Given the description of an element on the screen output the (x, y) to click on. 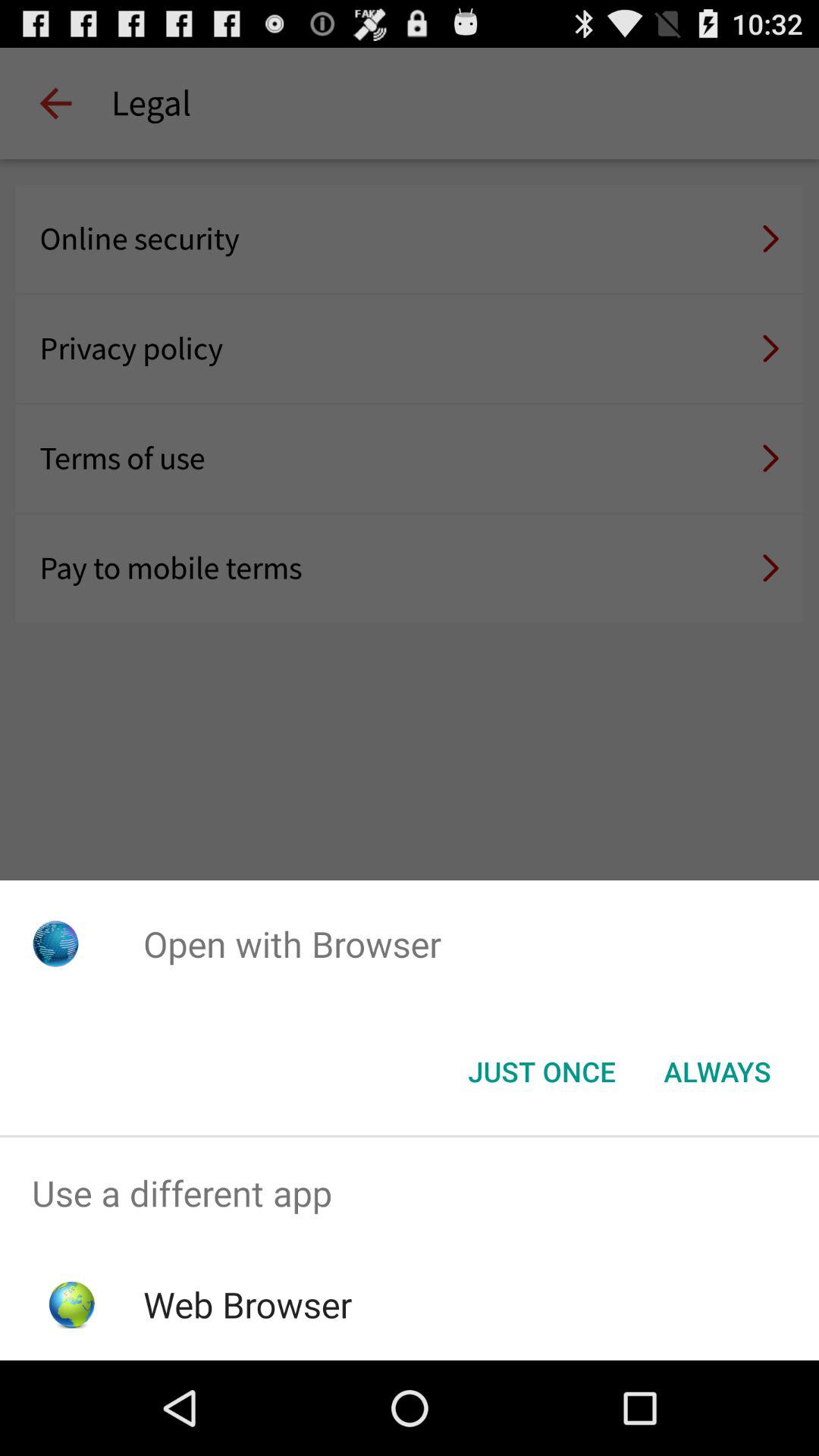
open icon to the right of just once (717, 1071)
